Given the description of an element on the screen output the (x, y) to click on. 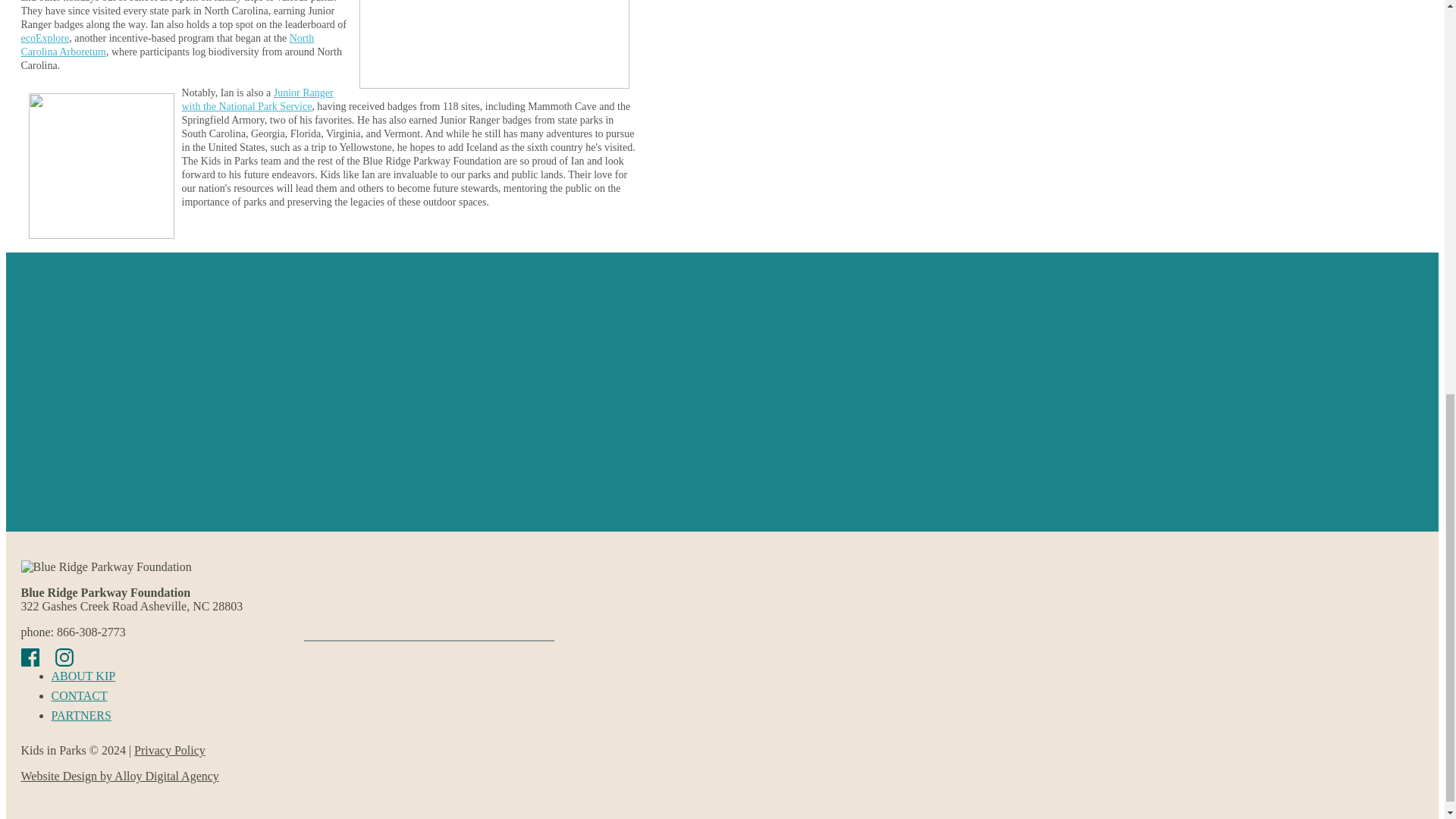
ecoExplore (45, 38)
ABOUT KIP (83, 676)
North Carolina Arboretum (167, 44)
Privacy Policy (169, 749)
PARTNERS (81, 715)
CONTACT (78, 695)
Junior Ranger with the National Park Service (257, 99)
